Given the description of an element on the screen output the (x, y) to click on. 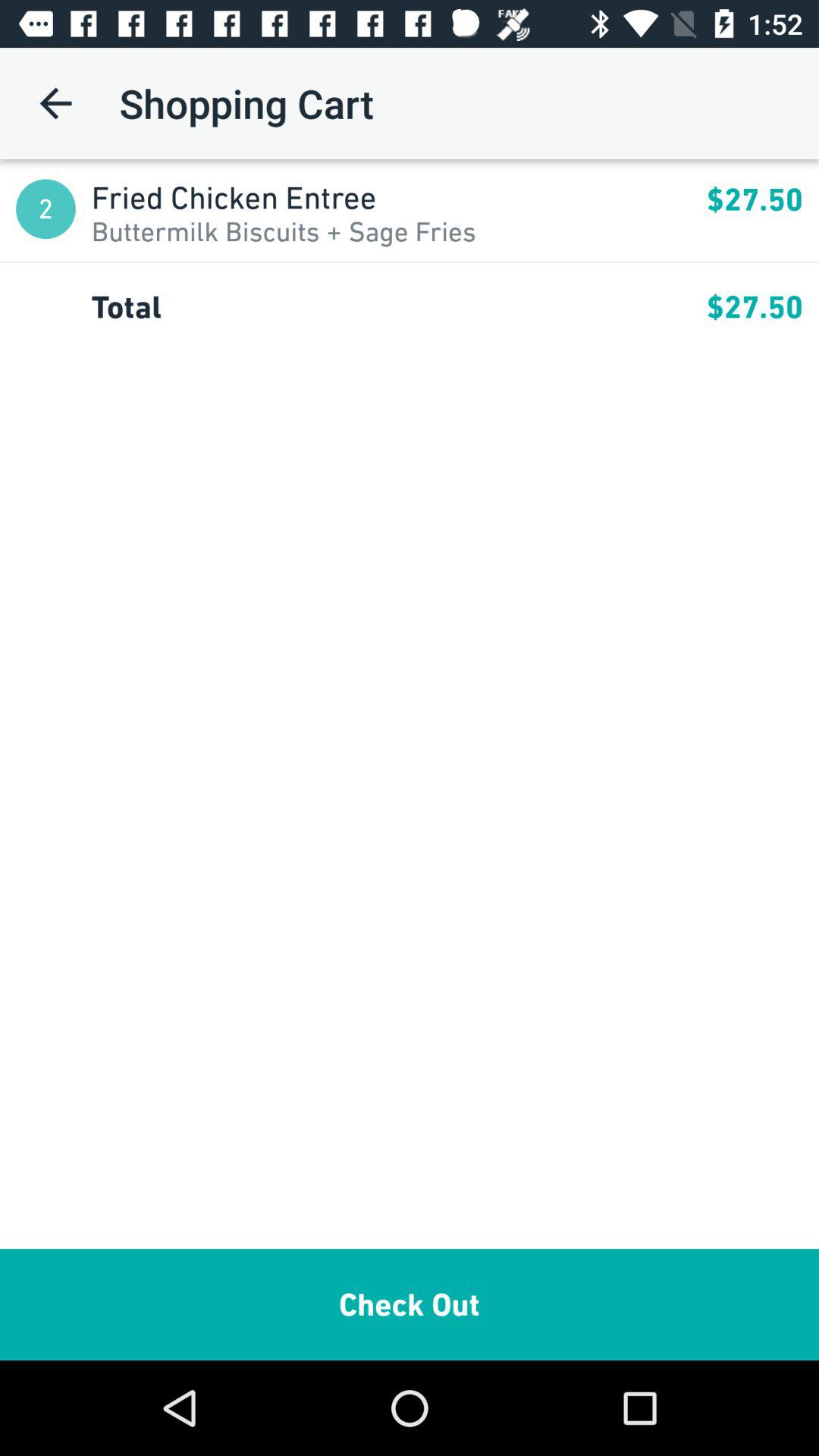
turn on the fried chicken entree (398, 197)
